Given the description of an element on the screen output the (x, y) to click on. 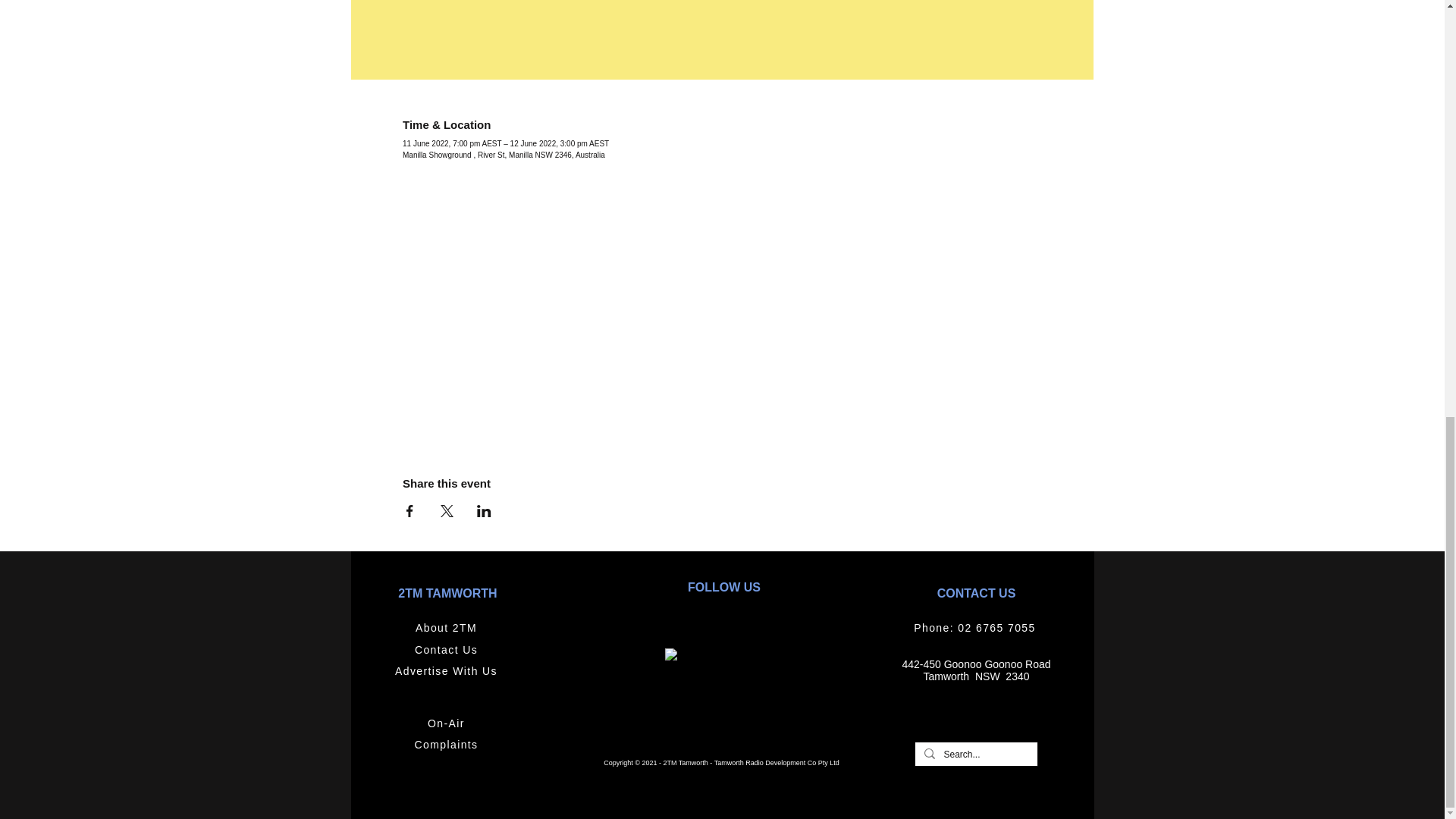
Complaints (447, 744)
About 2TM (448, 628)
Advertise With Us (447, 670)
Phone: 02 6765 7055 (976, 628)
Contact Us (448, 649)
On-Air (447, 723)
